Given the description of an element on the screen output the (x, y) to click on. 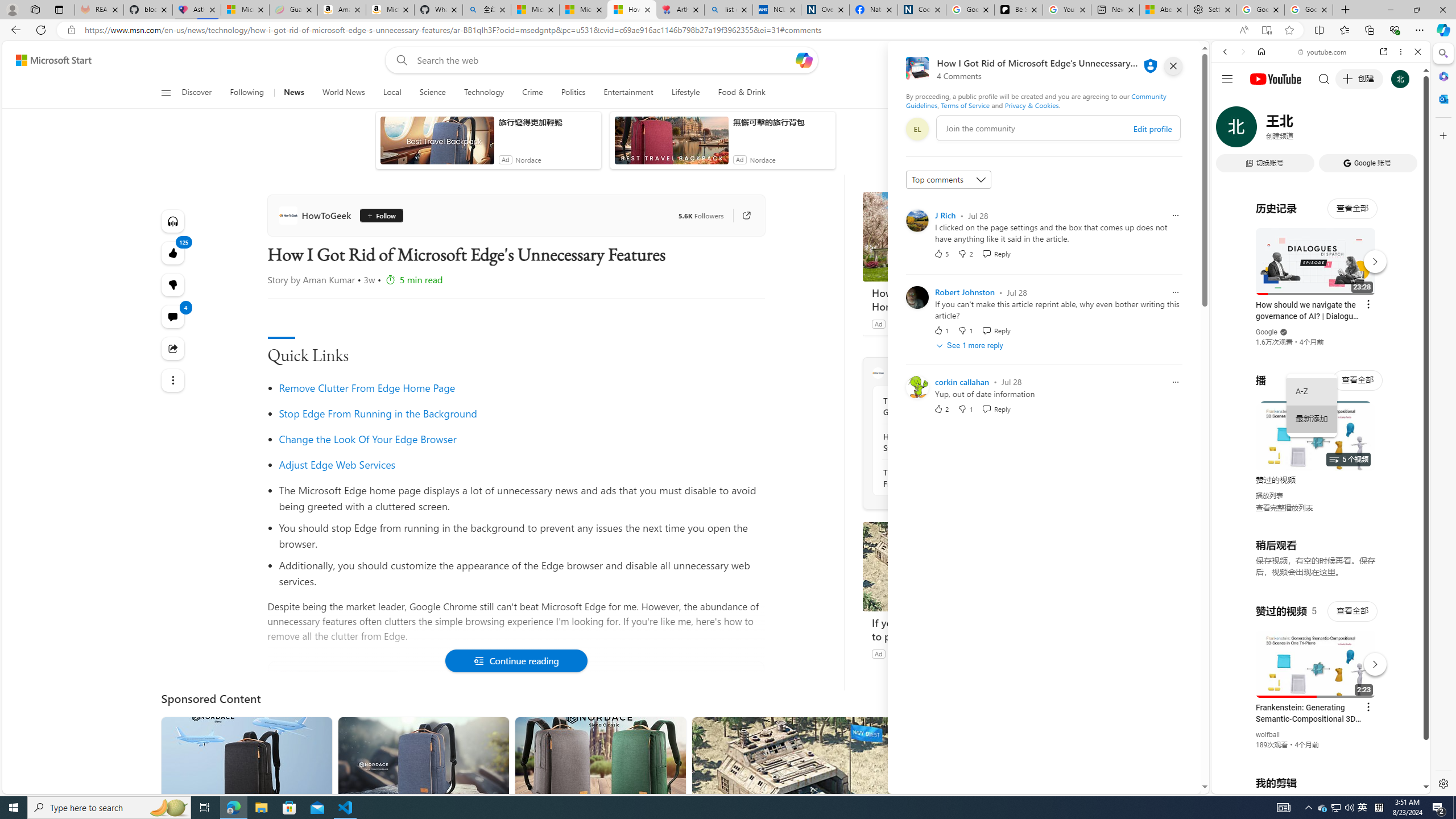
Lifestyle (685, 92)
Science (432, 92)
If you have a mouse, you have to play this game. (947, 566)
Cookies (921, 9)
View comments 4 Comment (172, 316)
How I Got Rid of Microsoft Edge's Unnecessary Features (631, 9)
Technology (483, 92)
How To Borrow From Your Home Without Touching Your Mortgage (947, 236)
Lifestyle (685, 92)
